Given the description of an element on the screen output the (x, y) to click on. 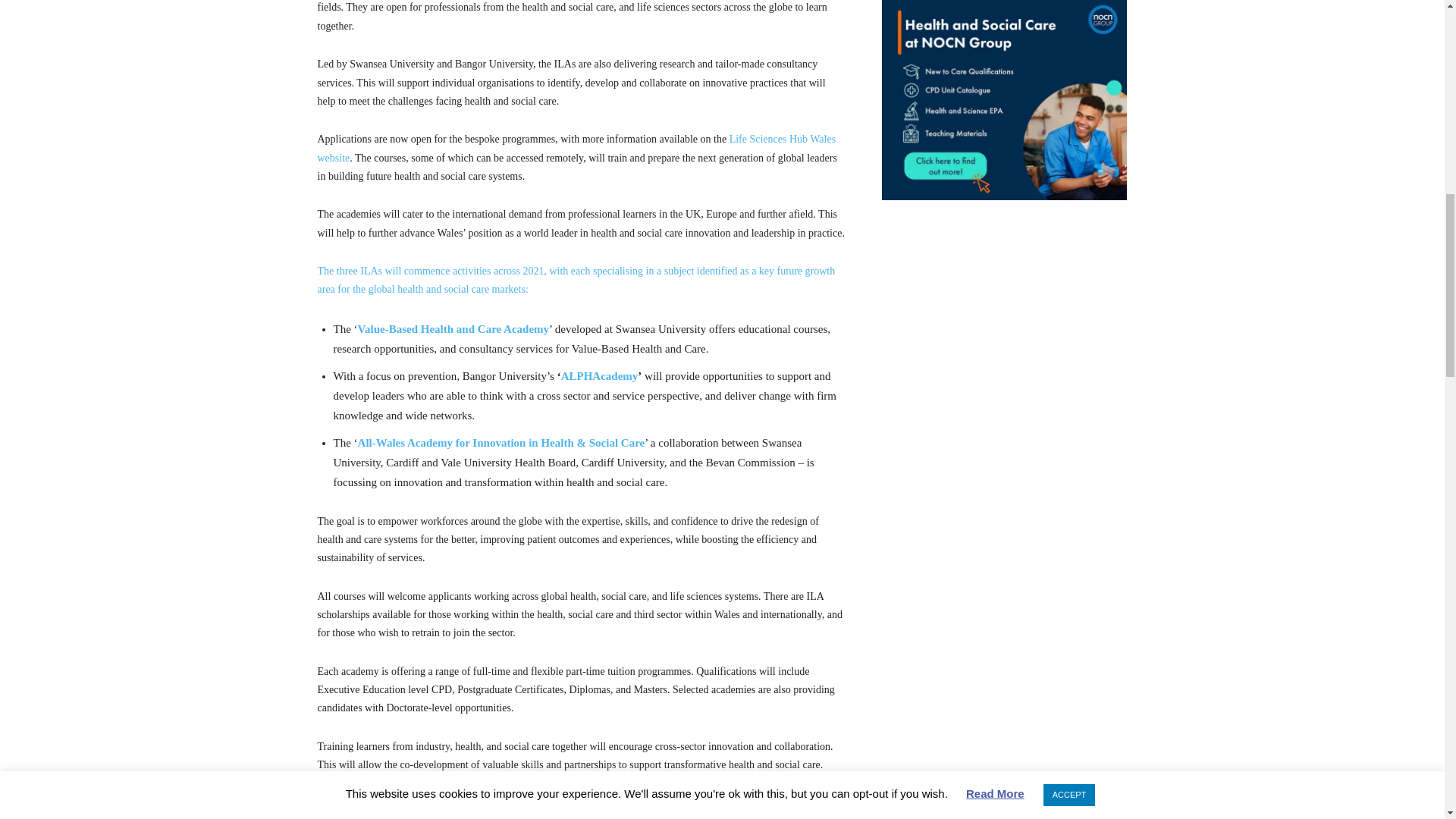
ALPHAcademy (599, 376)
Life Sciences Hub Wales website (576, 147)
Value-Based Health and Care Academy (454, 328)
